Given the description of an element on the screen output the (x, y) to click on. 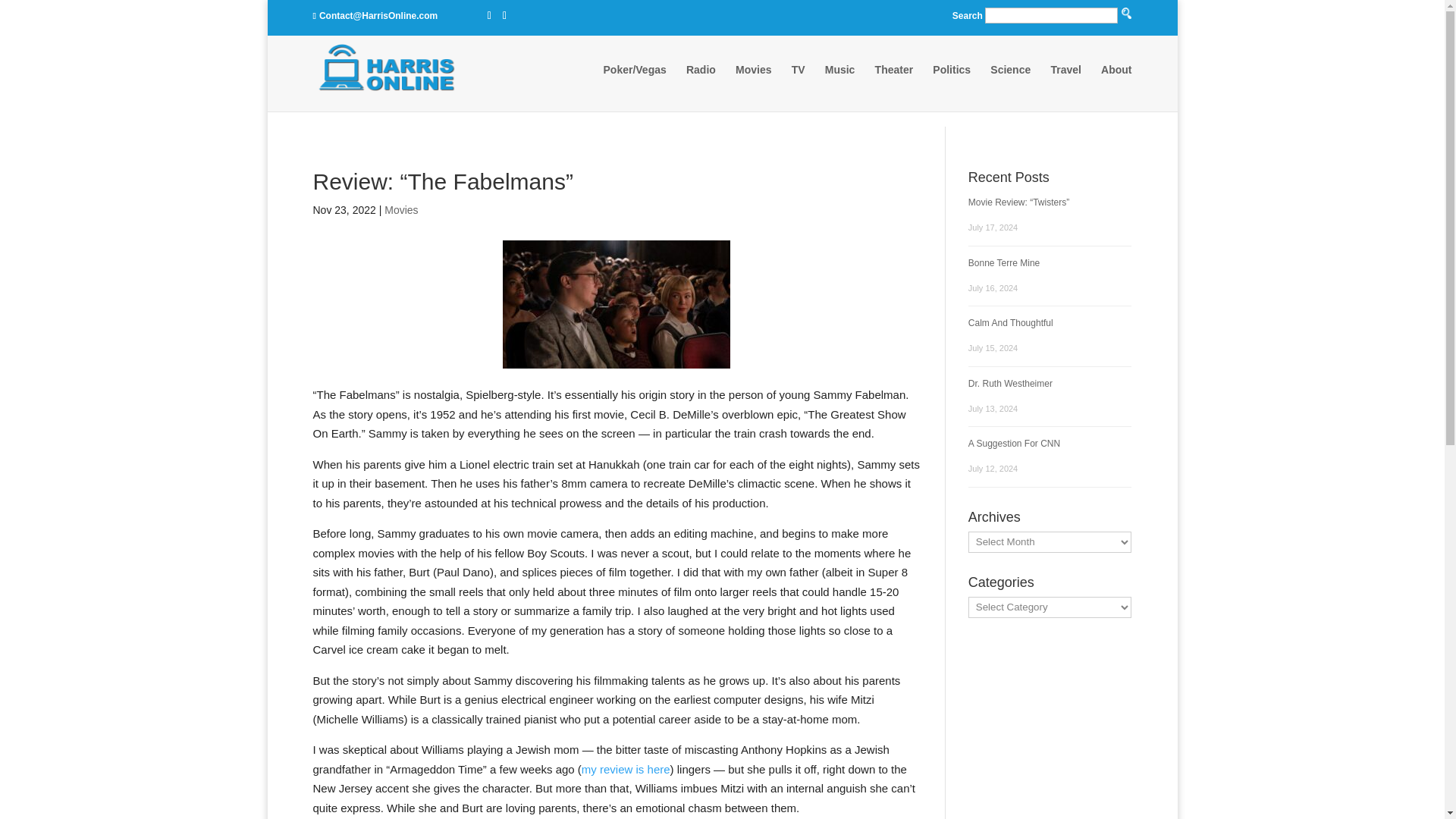
Bonne Terre Mine (1004, 262)
my review is here (624, 768)
Movies (400, 209)
Theater (894, 84)
Politics (952, 84)
A Suggestion For CNN (1013, 443)
Calm And Thoughtful (1010, 322)
Science (1010, 84)
Movies (753, 84)
Search (790, 128)
Dr. Ruth Westheimer (1010, 382)
